Given the description of an element on the screen output the (x, y) to click on. 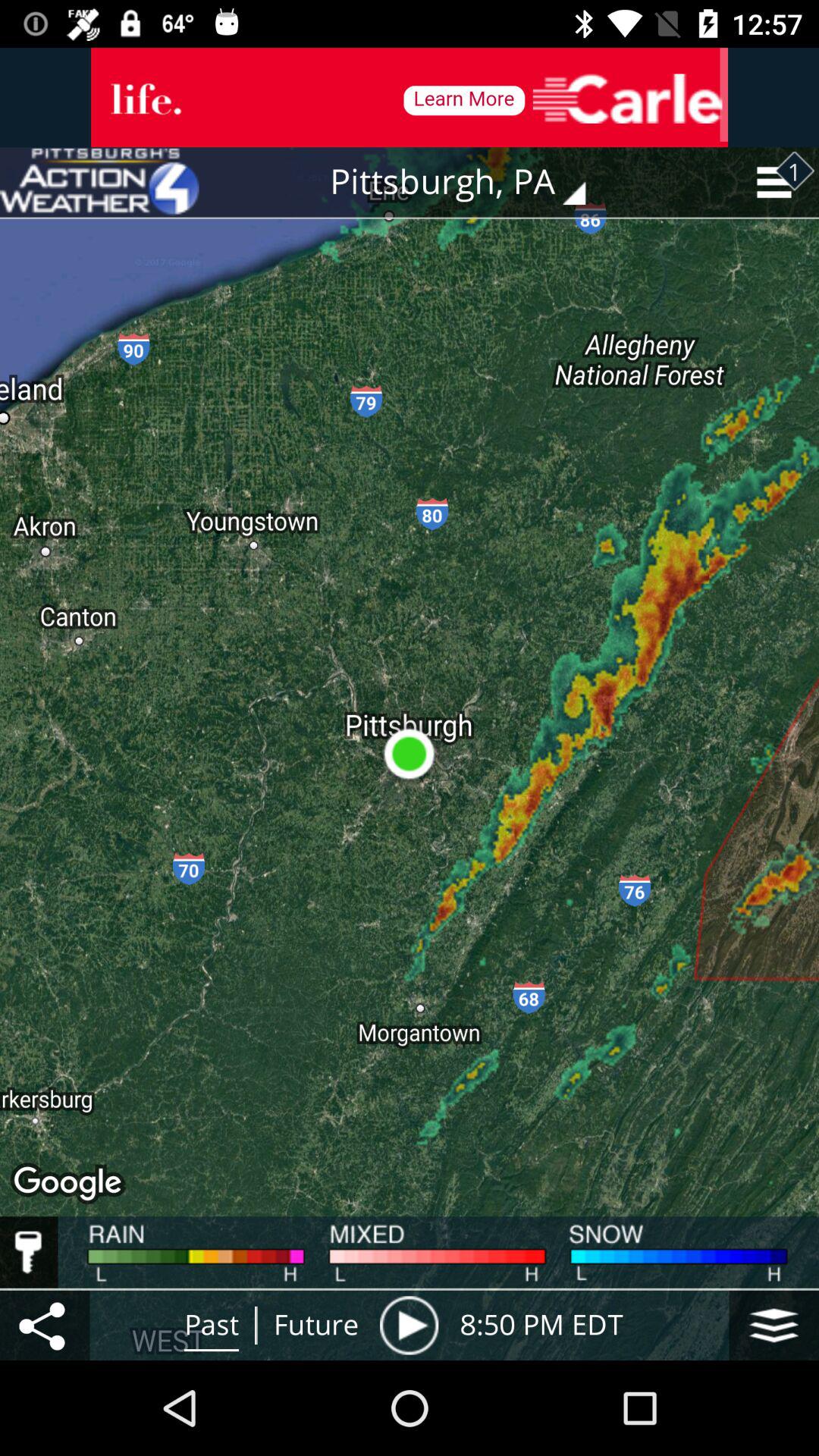
choose icon to the right of future icon (409, 1325)
